Given the description of an element on the screen output the (x, y) to click on. 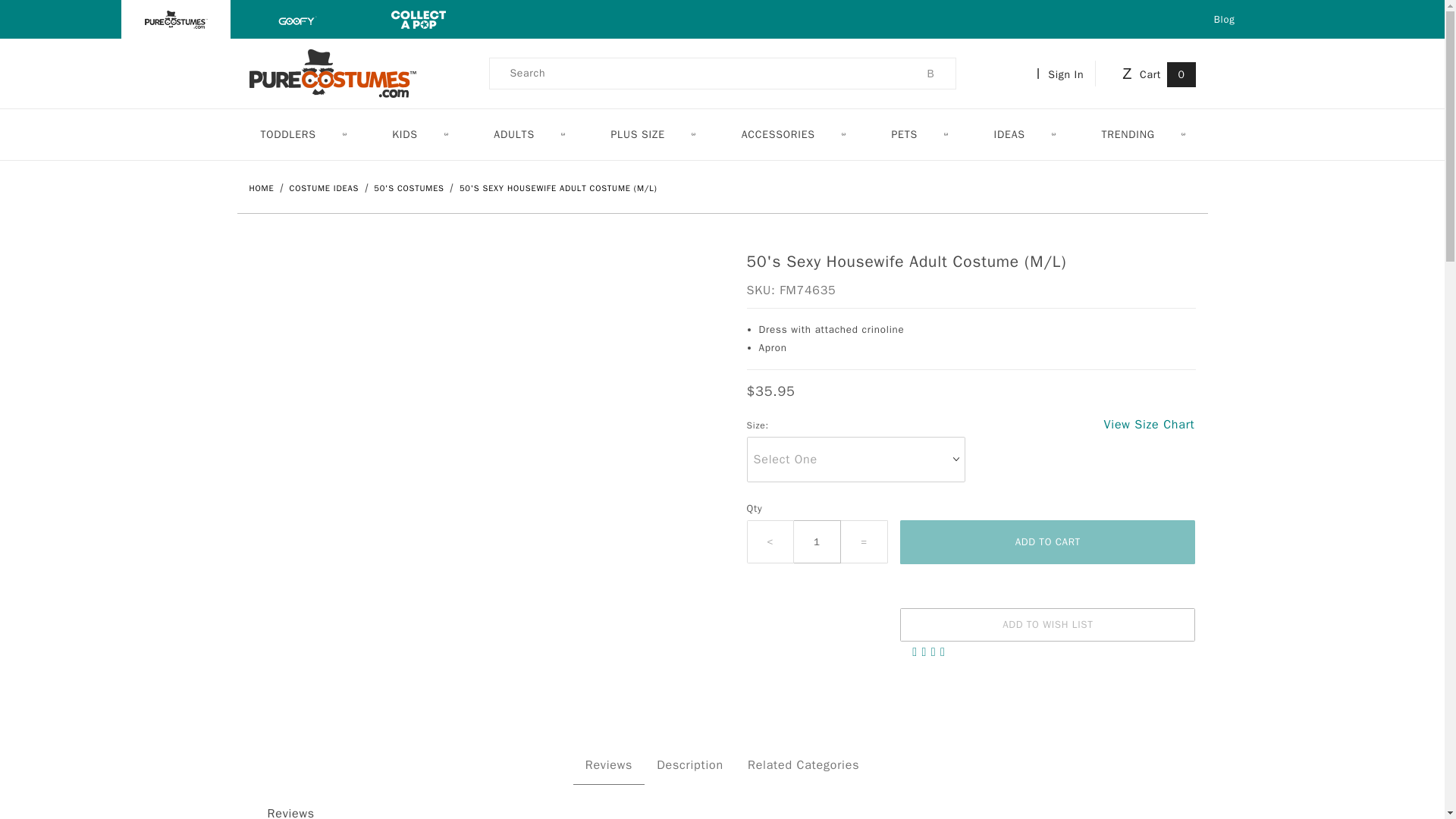
Goofybikes.com (297, 18)
Add To Cart (1047, 542)
Sign In (1063, 73)
Blog (1224, 18)
CollectaPop.com (418, 18)
KIDS (419, 134)
Home (262, 187)
PureCostumes.com (331, 72)
TODDLERS (301, 134)
1 (817, 541)
